Given the description of an element on the screen output the (x, y) to click on. 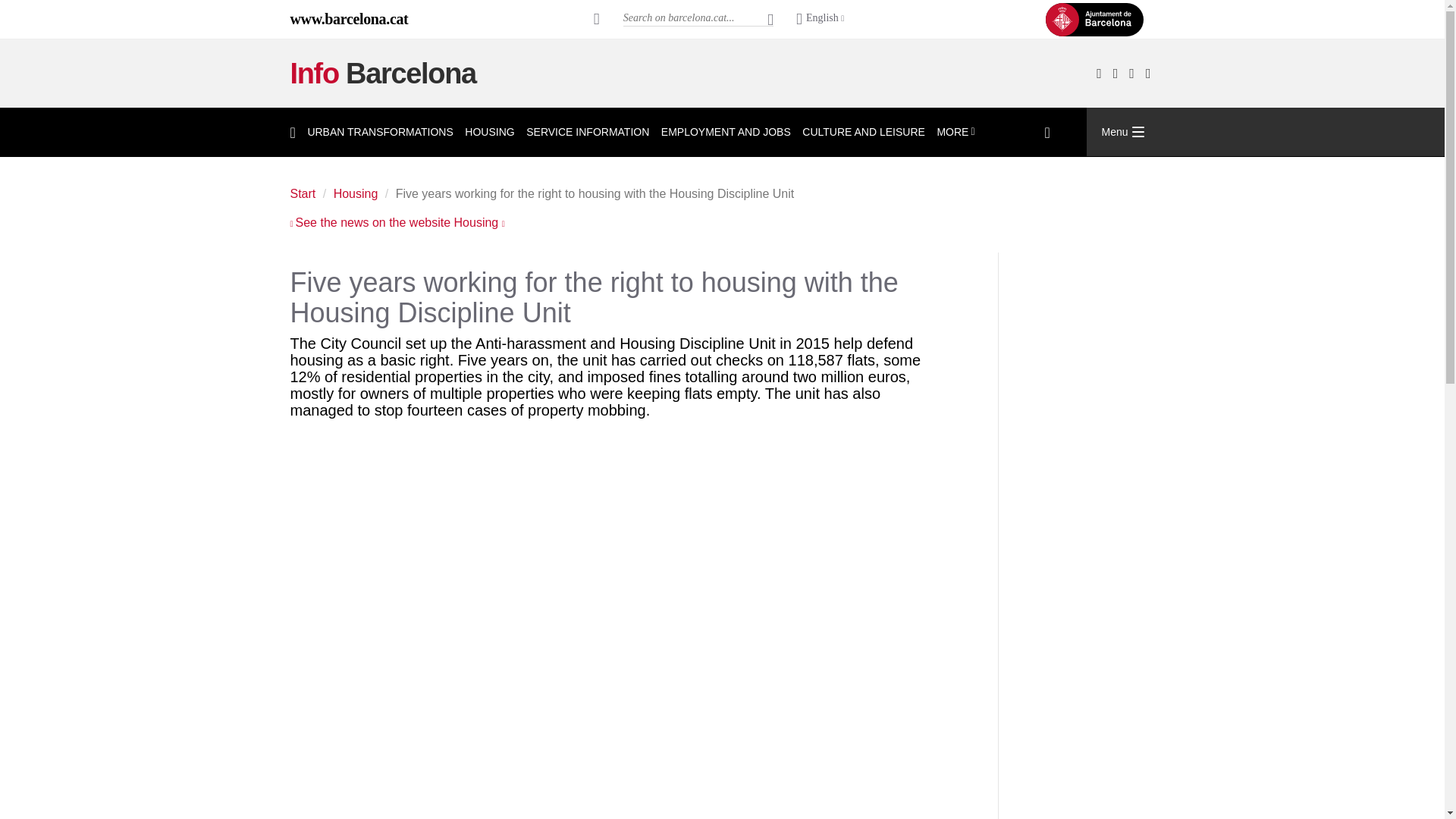
Start (382, 73)
barcelona.cat shortcuts (596, 18)
Change language (820, 18)
Barcelona (348, 18)
